Given the description of an element on the screen output the (x, y) to click on. 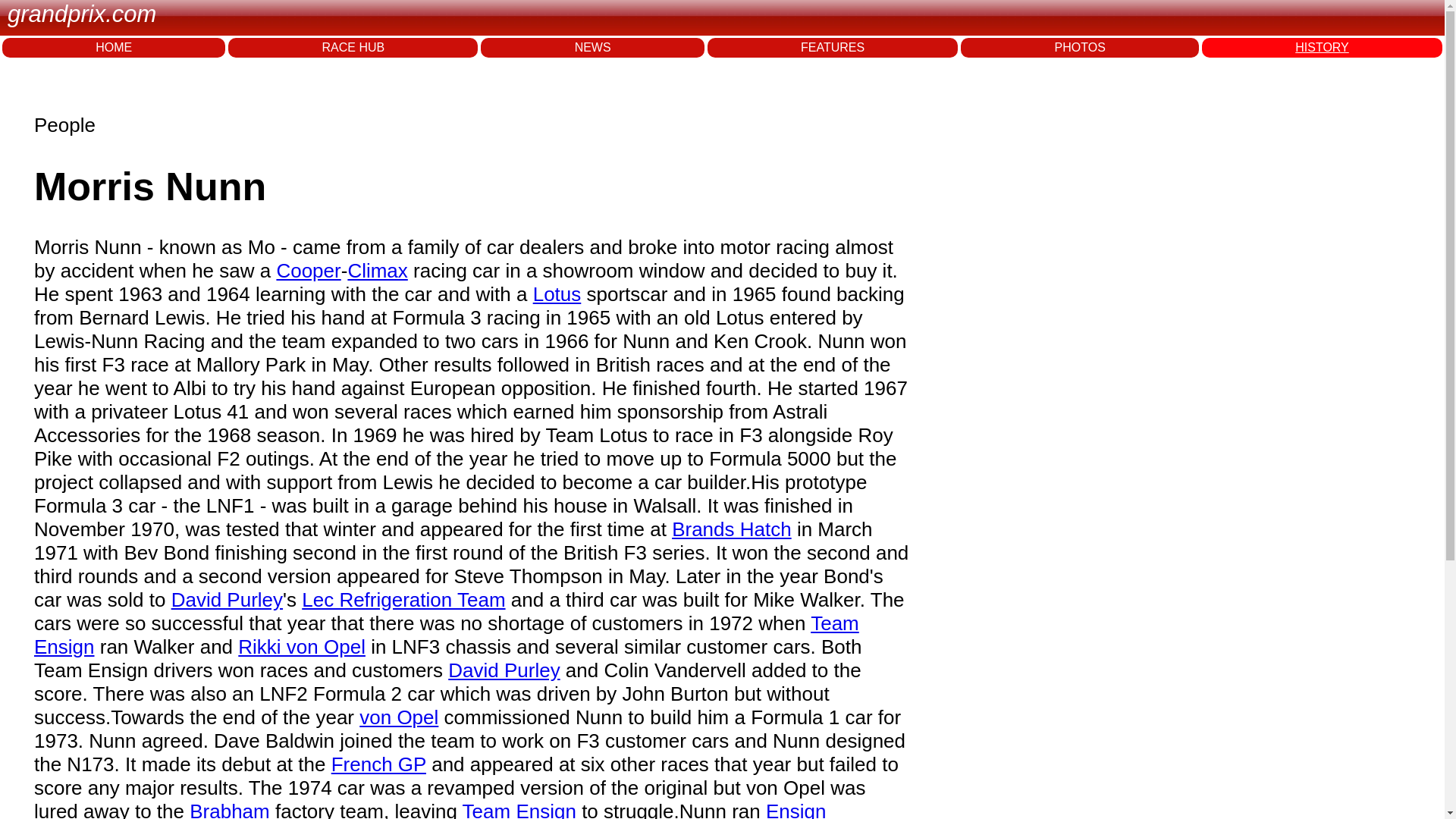
Lec Refrigeration Team (403, 599)
Cooper (308, 270)
Team Ensign (446, 634)
Lotus (556, 293)
Rikki von Opel (301, 646)
von Opel (398, 716)
RACE HUB (352, 47)
Climax (377, 270)
David Purley (503, 670)
PHOTOS (1079, 47)
